Given the description of an element on the screen output the (x, y) to click on. 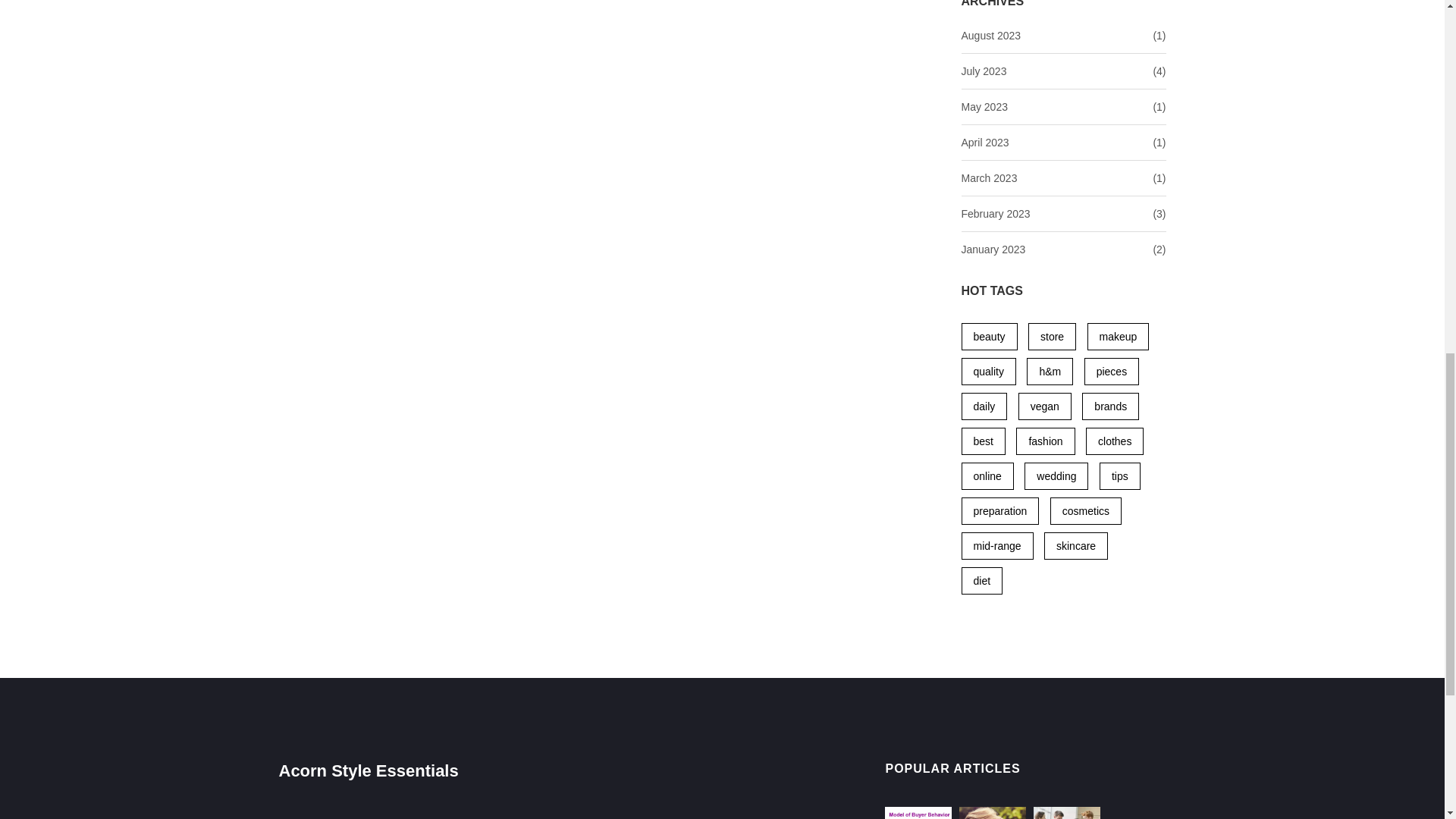
quality (988, 370)
wedding (1056, 475)
best (983, 441)
fashion (1045, 441)
beauty (988, 336)
preparation (999, 510)
diet (981, 580)
store (1051, 336)
makeup (1118, 336)
pieces (1111, 370)
brands (1109, 406)
skincare (1075, 545)
online (986, 475)
mid-range (996, 545)
vegan (1044, 406)
